Given the description of an element on the screen output the (x, y) to click on. 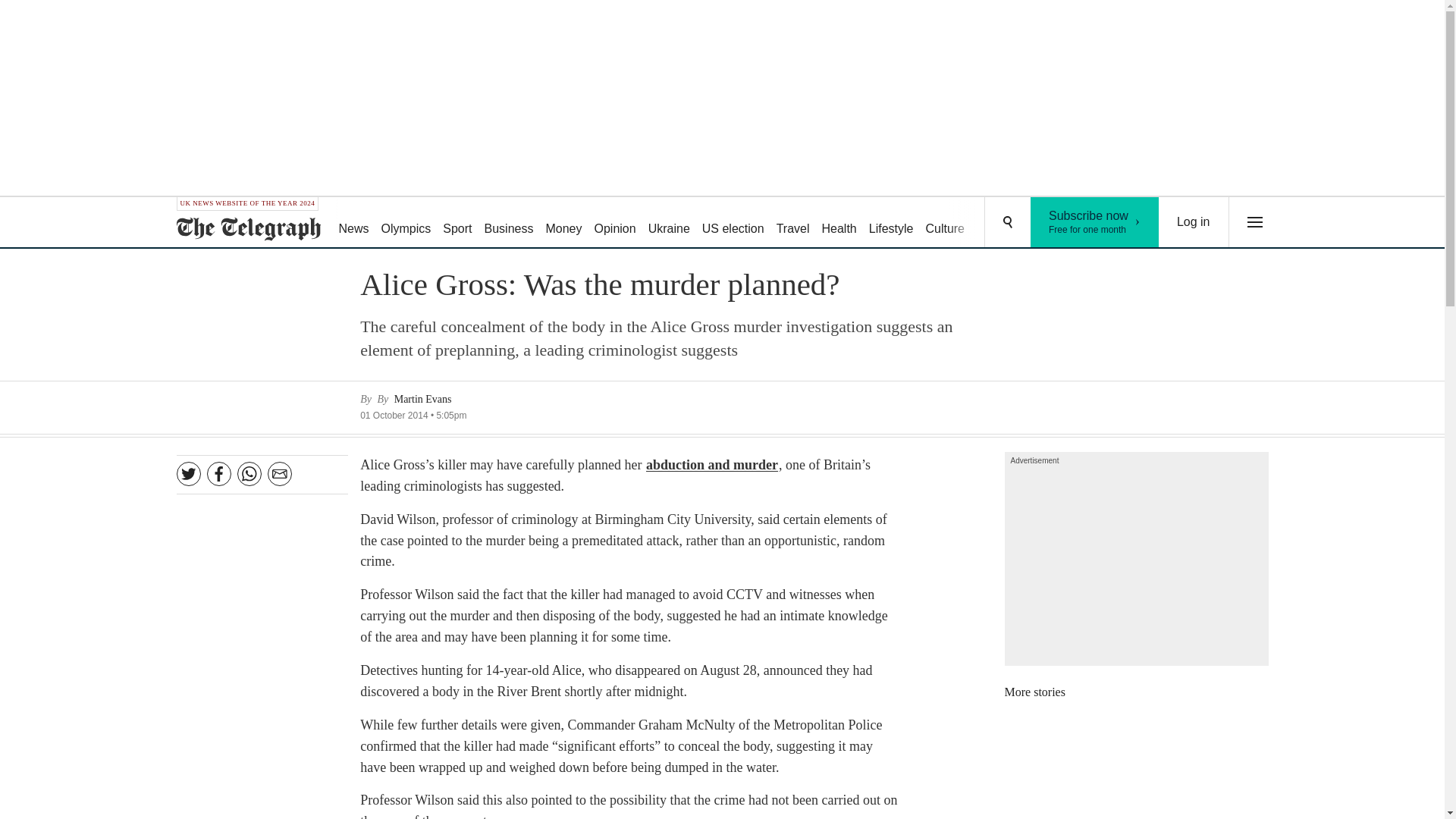
Opinion (615, 223)
Money (563, 223)
Business (509, 223)
Podcasts (1056, 223)
Ukraine (668, 223)
Lifestyle (891, 223)
Log in (1193, 222)
Culture (944, 223)
US election (1094, 222)
Olympics (732, 223)
Puzzles (406, 223)
Travel (998, 223)
Health (792, 223)
